Given the description of an element on the screen output the (x, y) to click on. 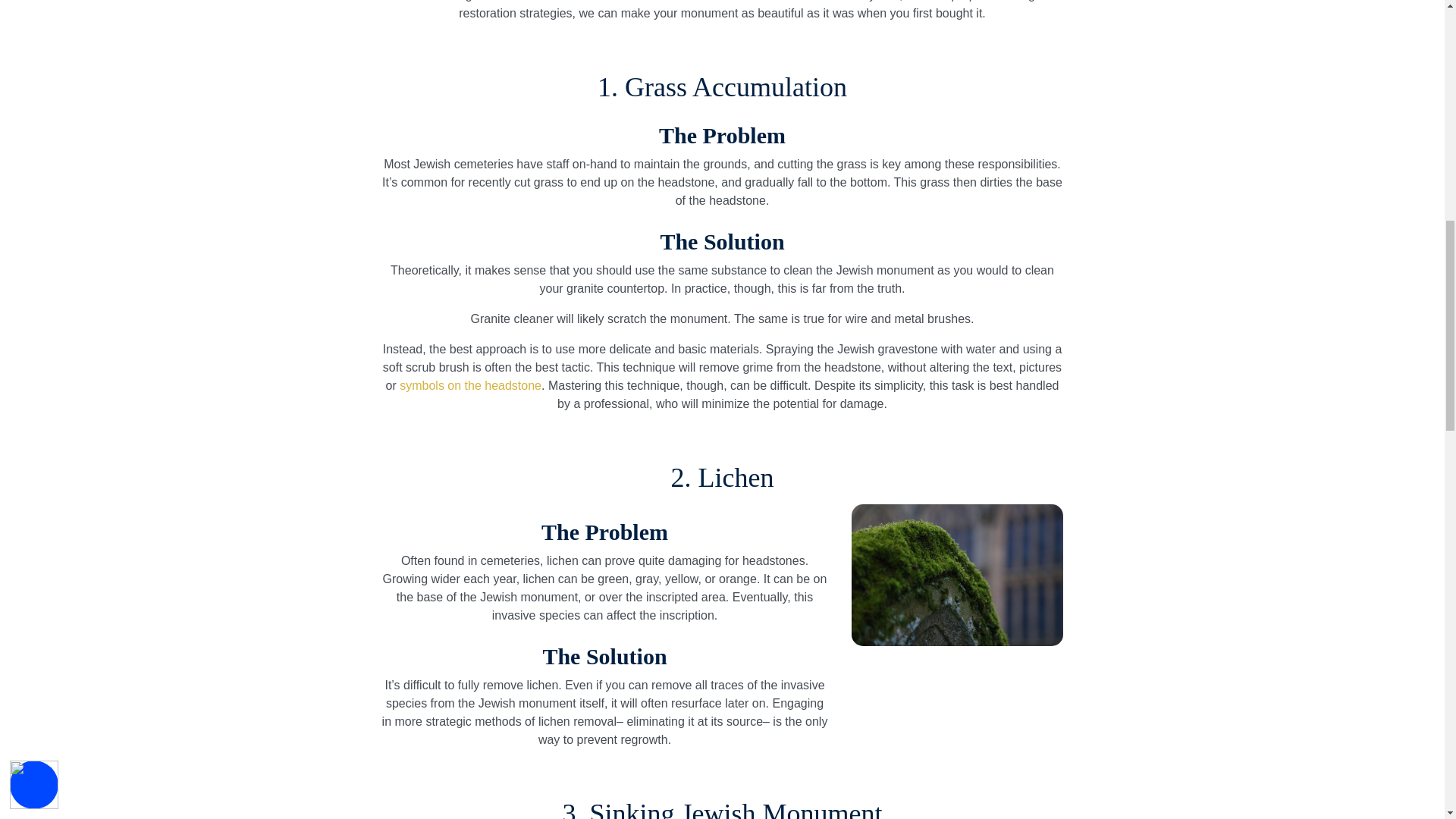
Jewish Monument Symbols (469, 385)
symbols on the headstone (469, 385)
